Given the description of an element on the screen output the (x, y) to click on. 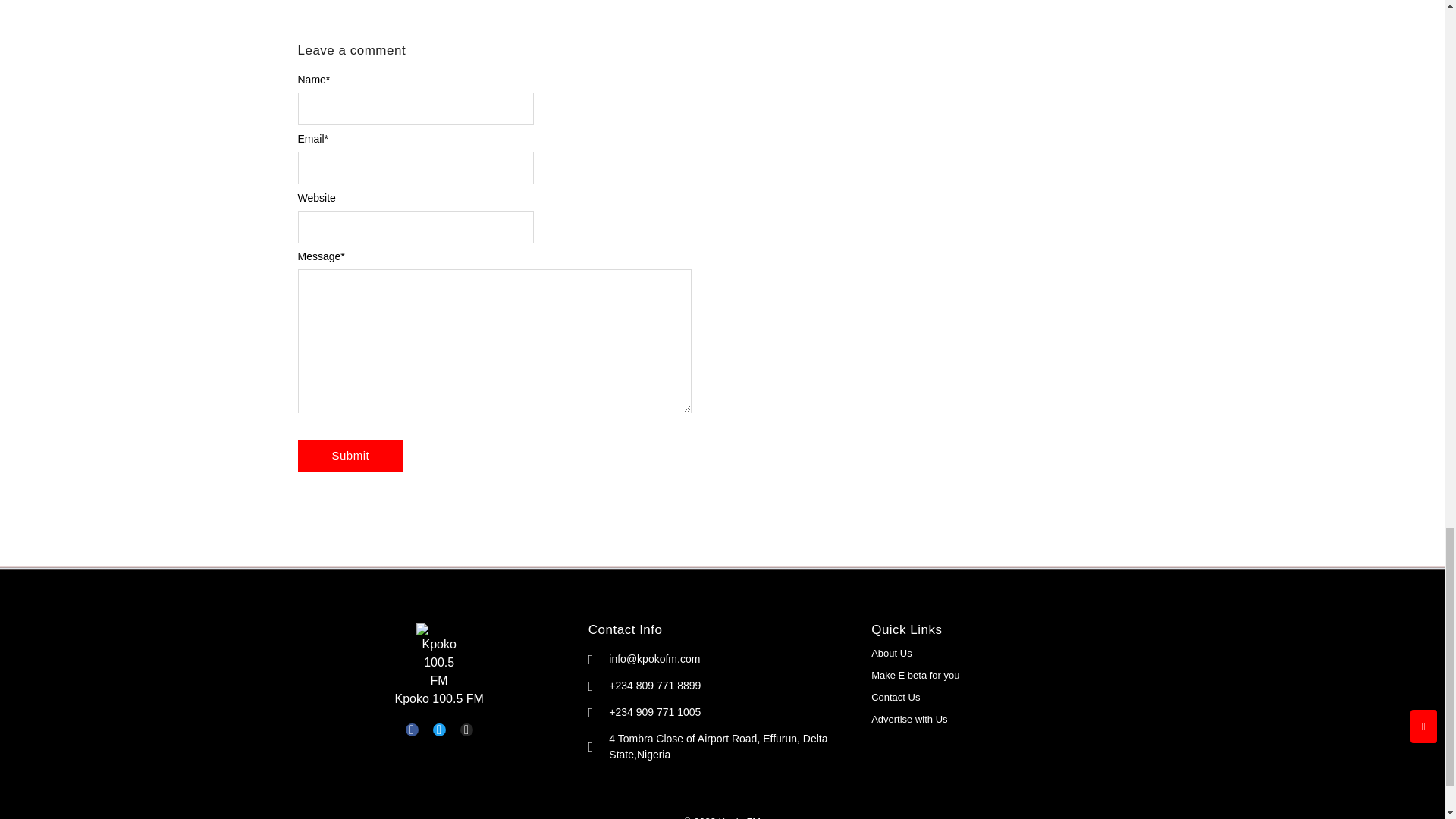
Submit (350, 455)
